Given the description of an element on the screen output the (x, y) to click on. 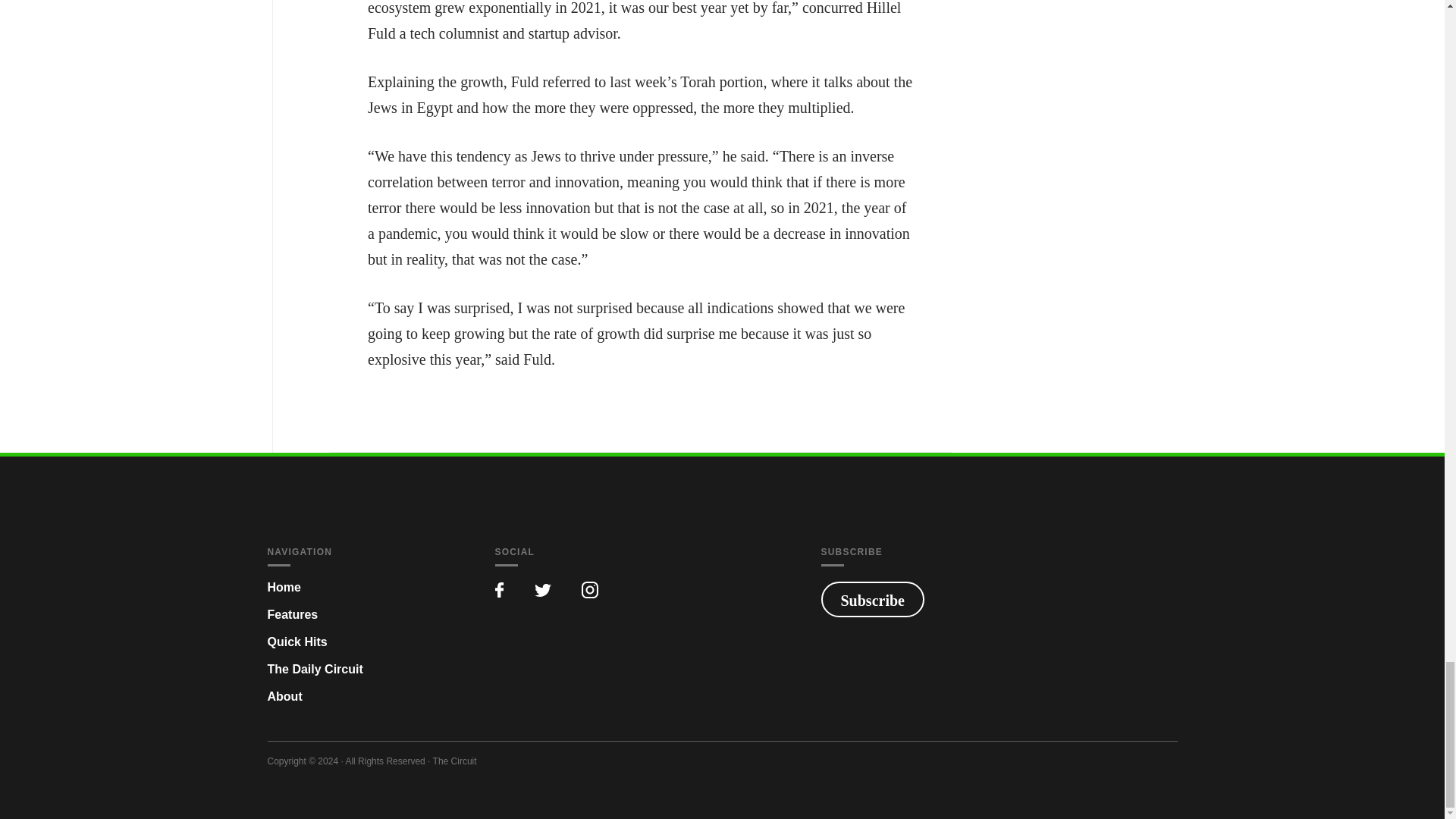
Home (282, 586)
Features (291, 614)
Quick Hits (296, 641)
